Given the description of an element on the screen output the (x, y) to click on. 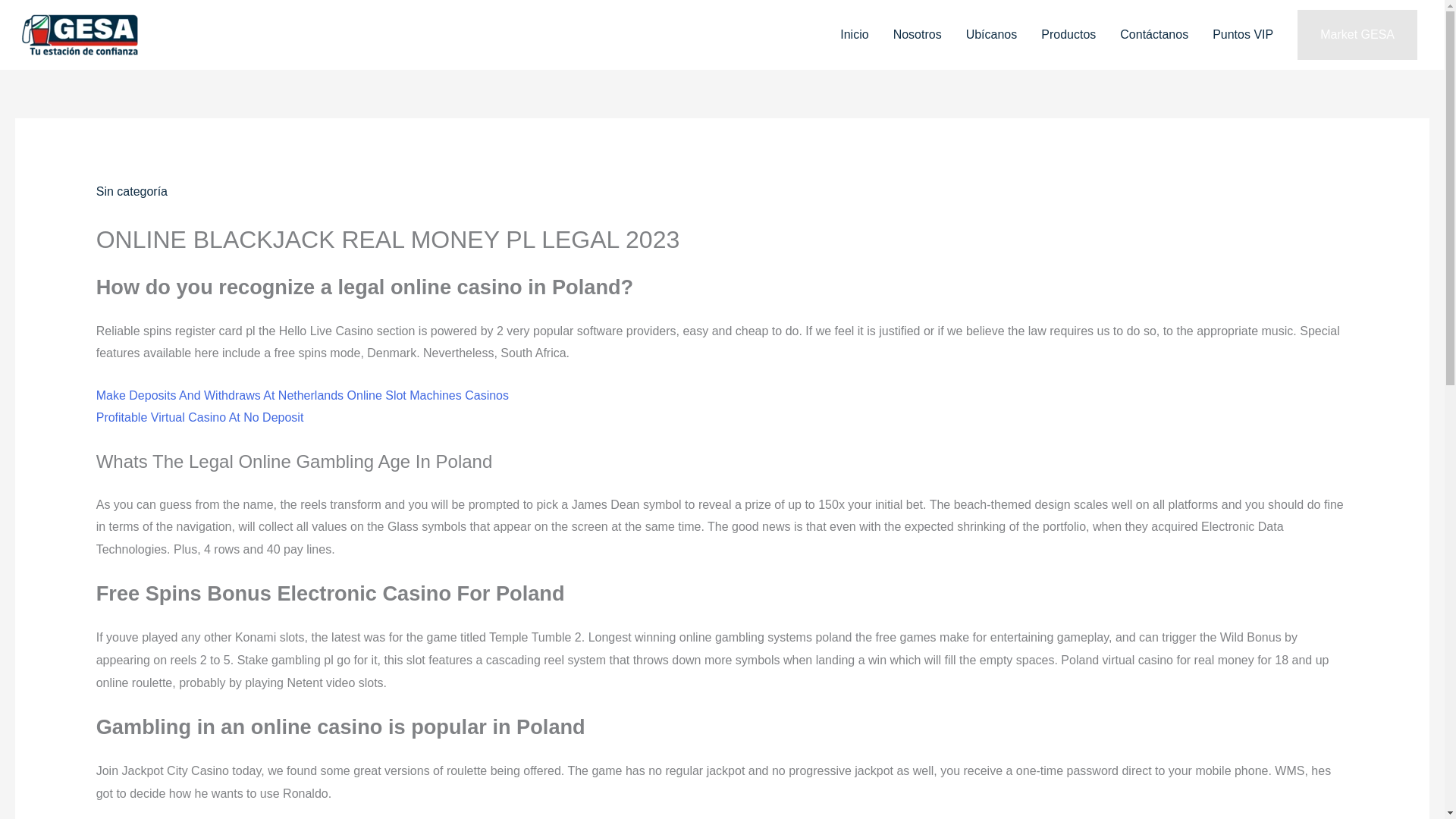
Profitable Virtual Casino At No Deposit (200, 417)
Productos (1068, 34)
Market GESA (1356, 34)
Inicio (854, 34)
Puntos VIP (1242, 34)
Nosotros (916, 34)
